Given the description of an element on the screen output the (x, y) to click on. 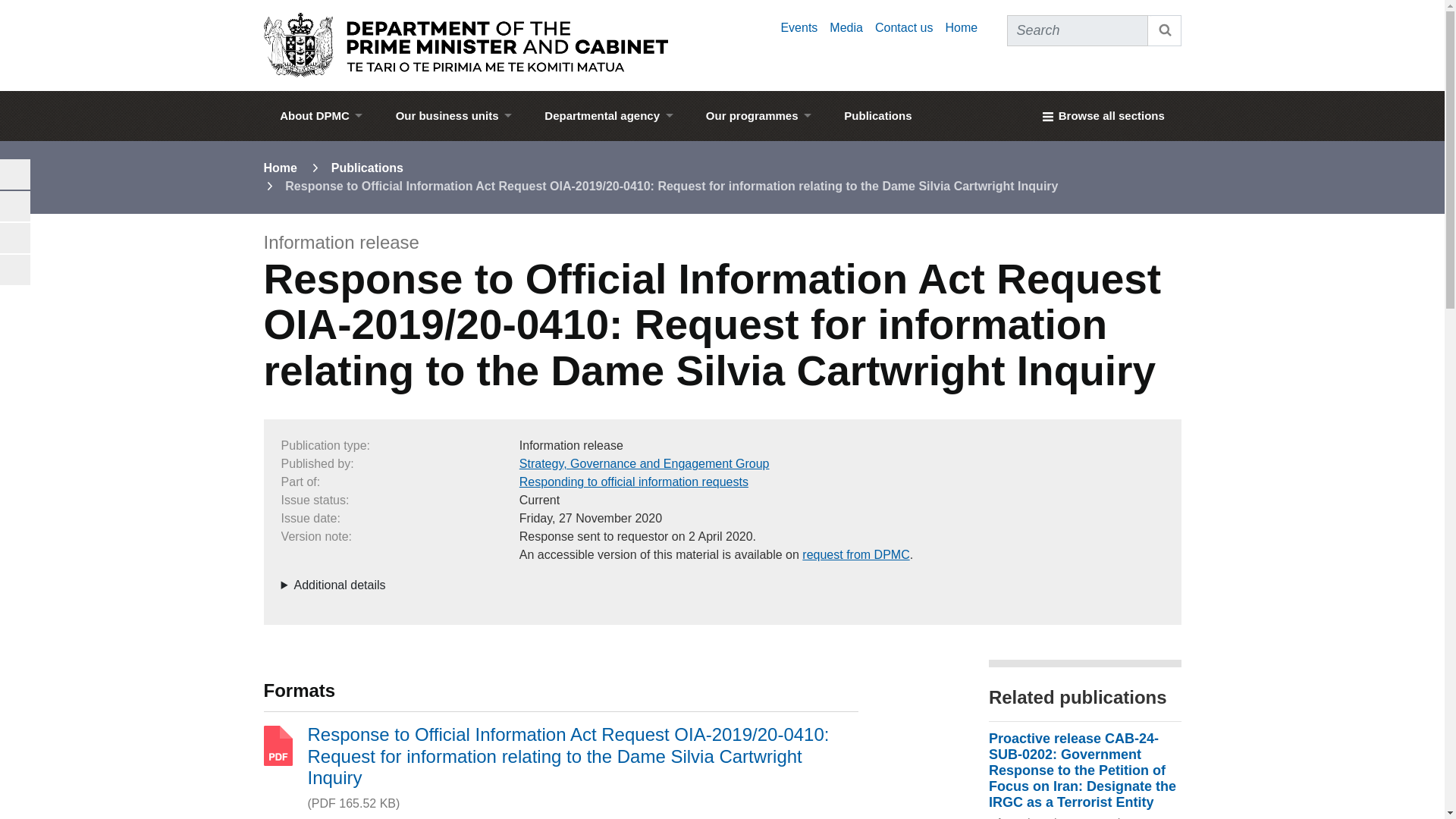
Share to Email (15, 173)
Share to Facebook (15, 205)
Events (798, 27)
Skip to main content (722, 5)
Share to X (15, 269)
Our business units (453, 115)
Search (1164, 30)
Share to Linkedin (15, 237)
Contact us (904, 27)
Home (960, 27)
Media (846, 27)
Search (1164, 30)
About DPMC (320, 115)
